Given the description of an element on the screen output the (x, y) to click on. 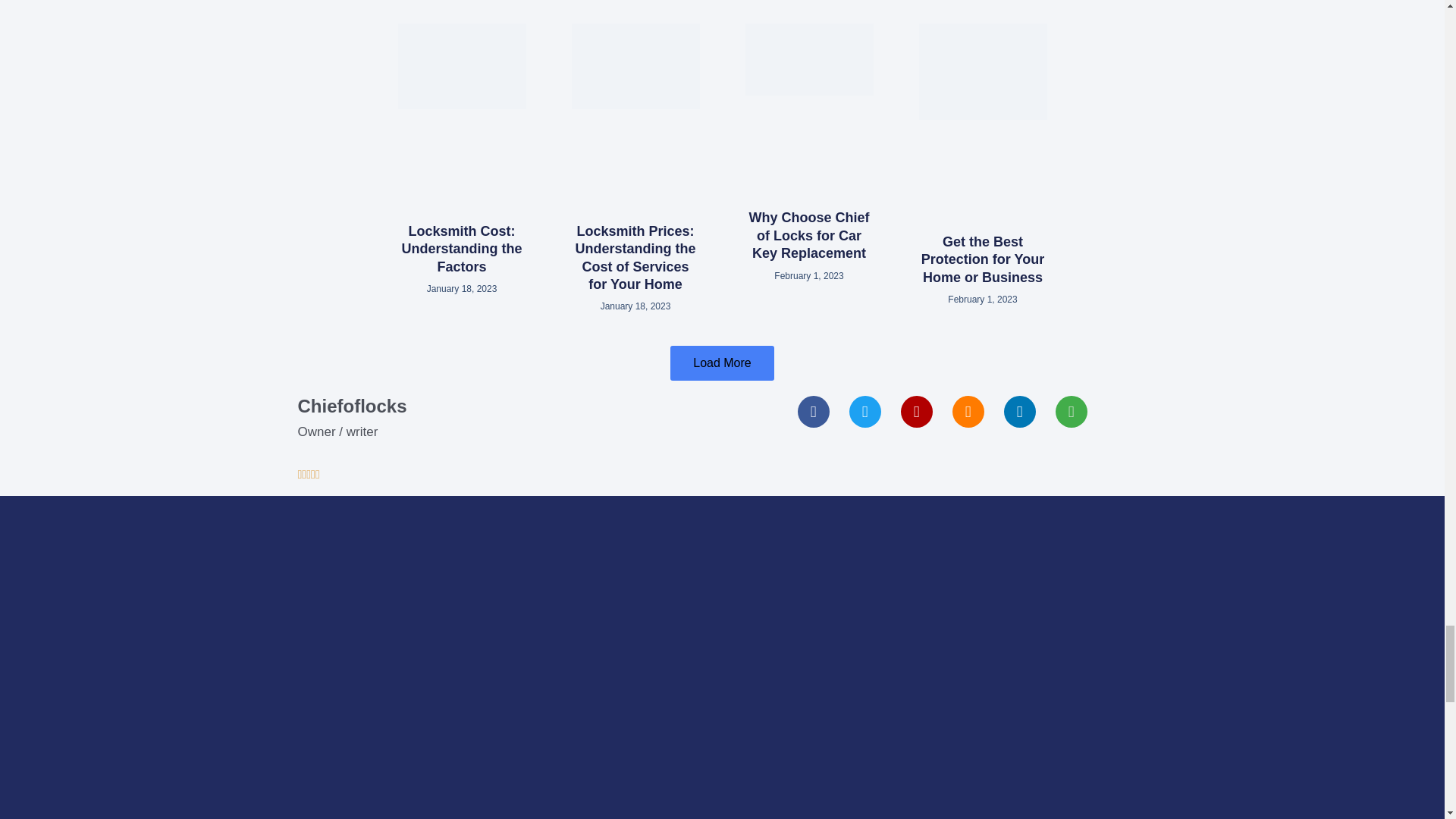
Automotive-Locksmith - Chief Of Locks (808, 59)
Locksmith Fishers near me - Chief Of Locks (636, 65)
Magazine-best-locksmiths-in-singapore - Chief Of Locks (982, 71)
